Given the description of an element on the screen output the (x, y) to click on. 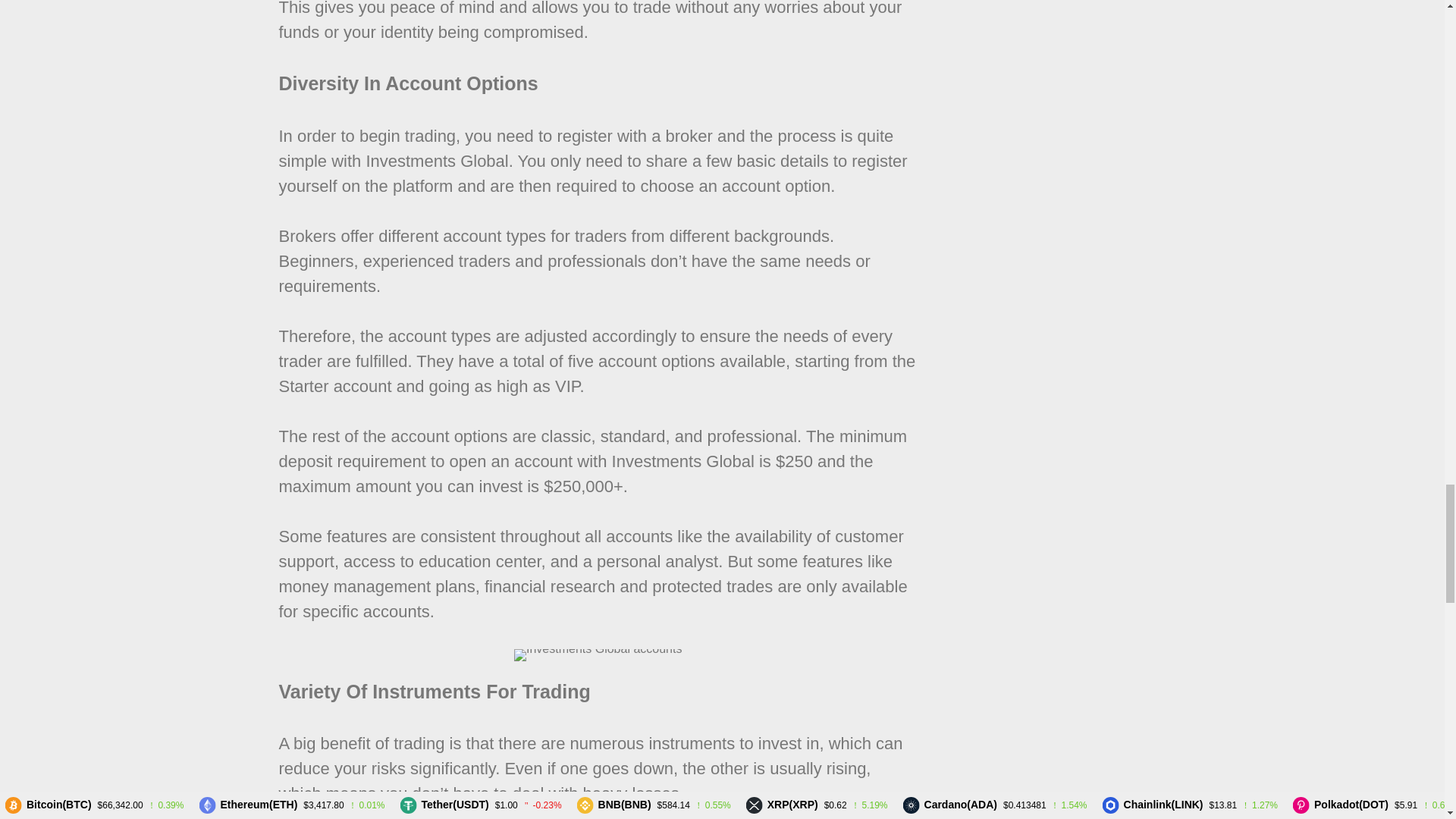
Investments Global accounts - CryptocyNews.com (597, 654)
